Given the description of an element on the screen output the (x, y) to click on. 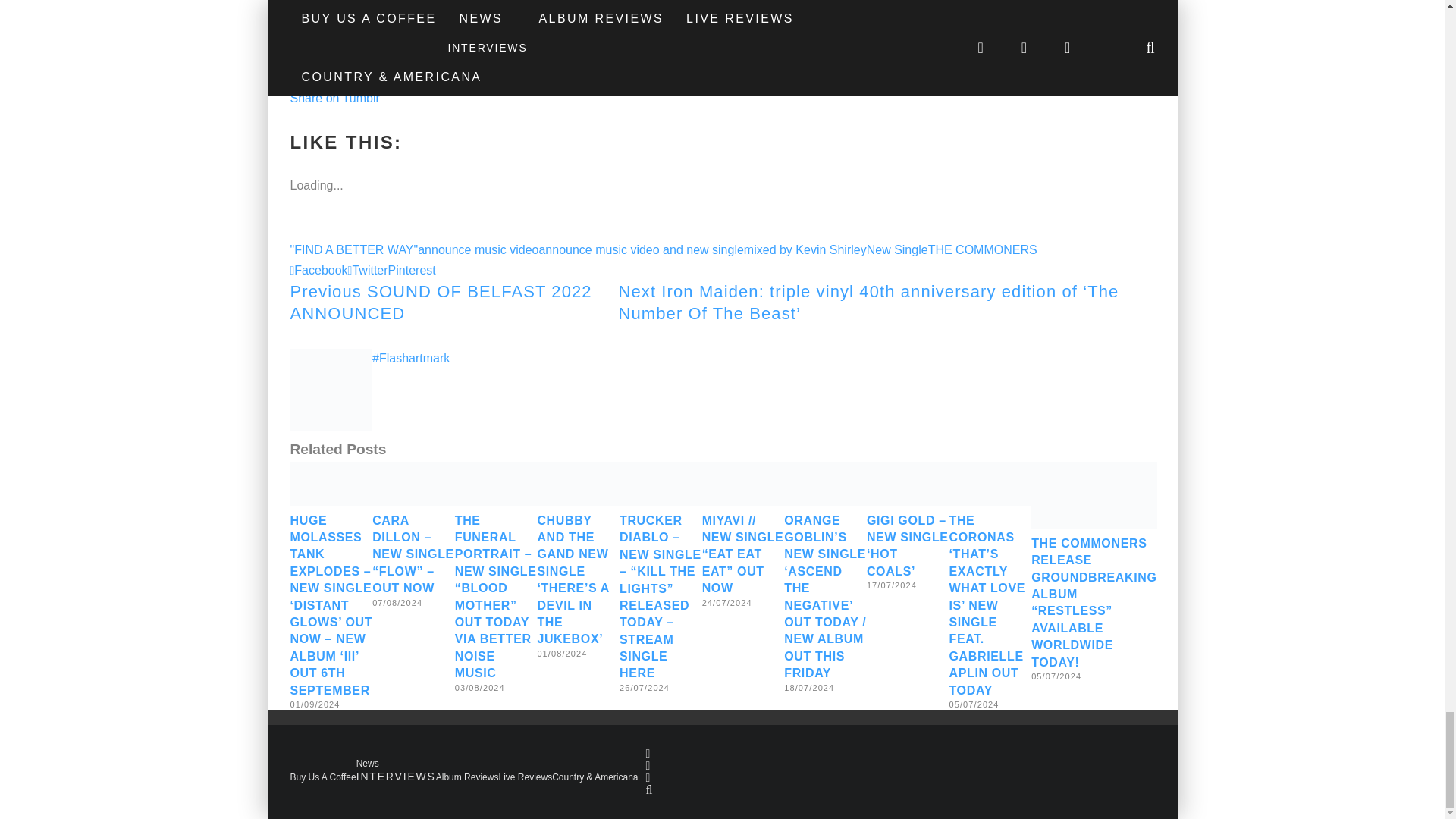
Share on Tumblr (333, 97)
Share on Tumblr (333, 97)
"FIND A BETTER WAY" (353, 249)
Tweet (305, 77)
